Given the description of an element on the screen output the (x, y) to click on. 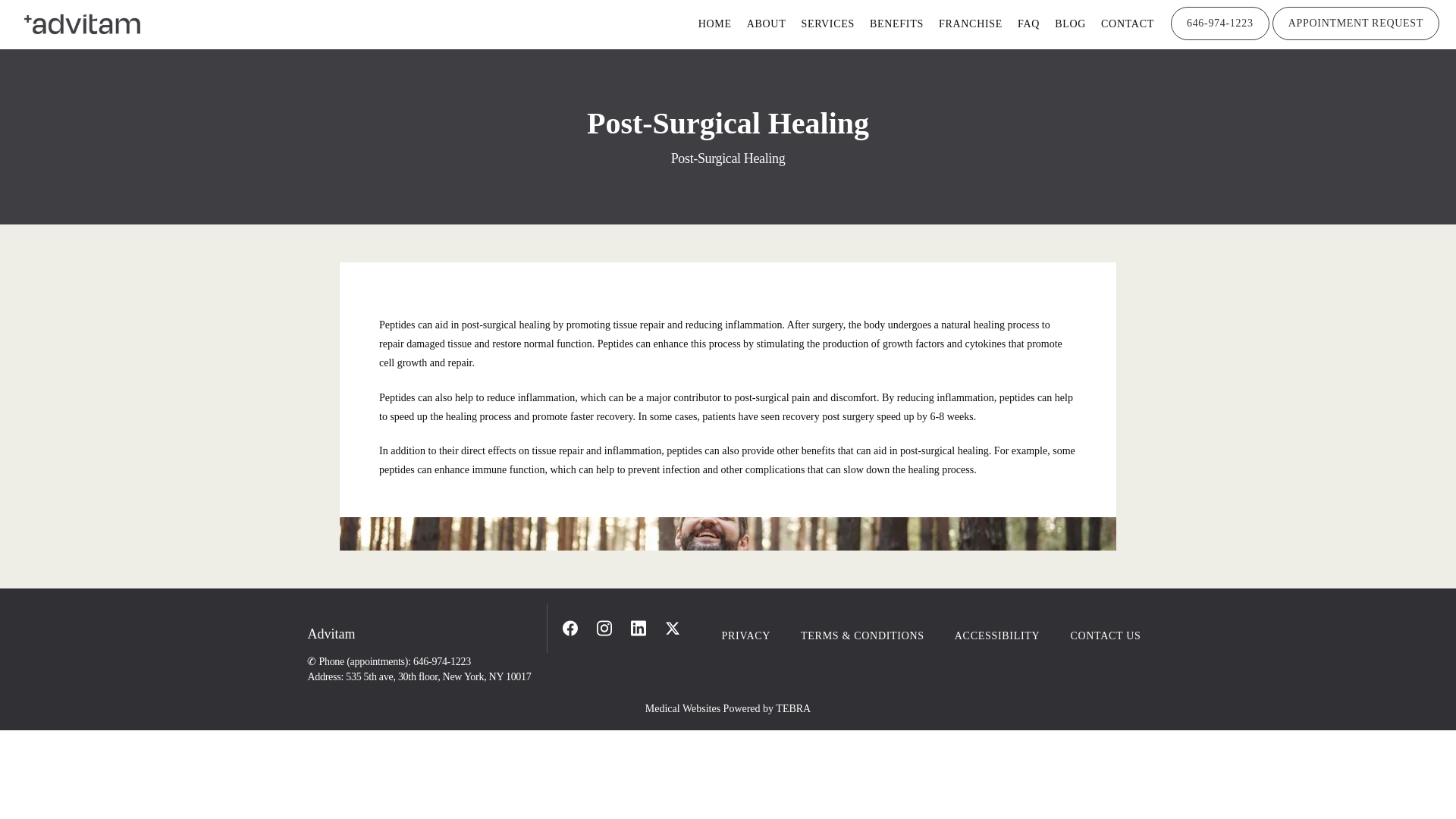
FRANCHISE (971, 23)
SERVICES (827, 23)
HOME (715, 23)
APPOINTMENT REQUEST (1356, 38)
646-974-1223 (1220, 38)
CONTACT (1127, 23)
BLOG (1070, 23)
